Given the description of an element on the screen output the (x, y) to click on. 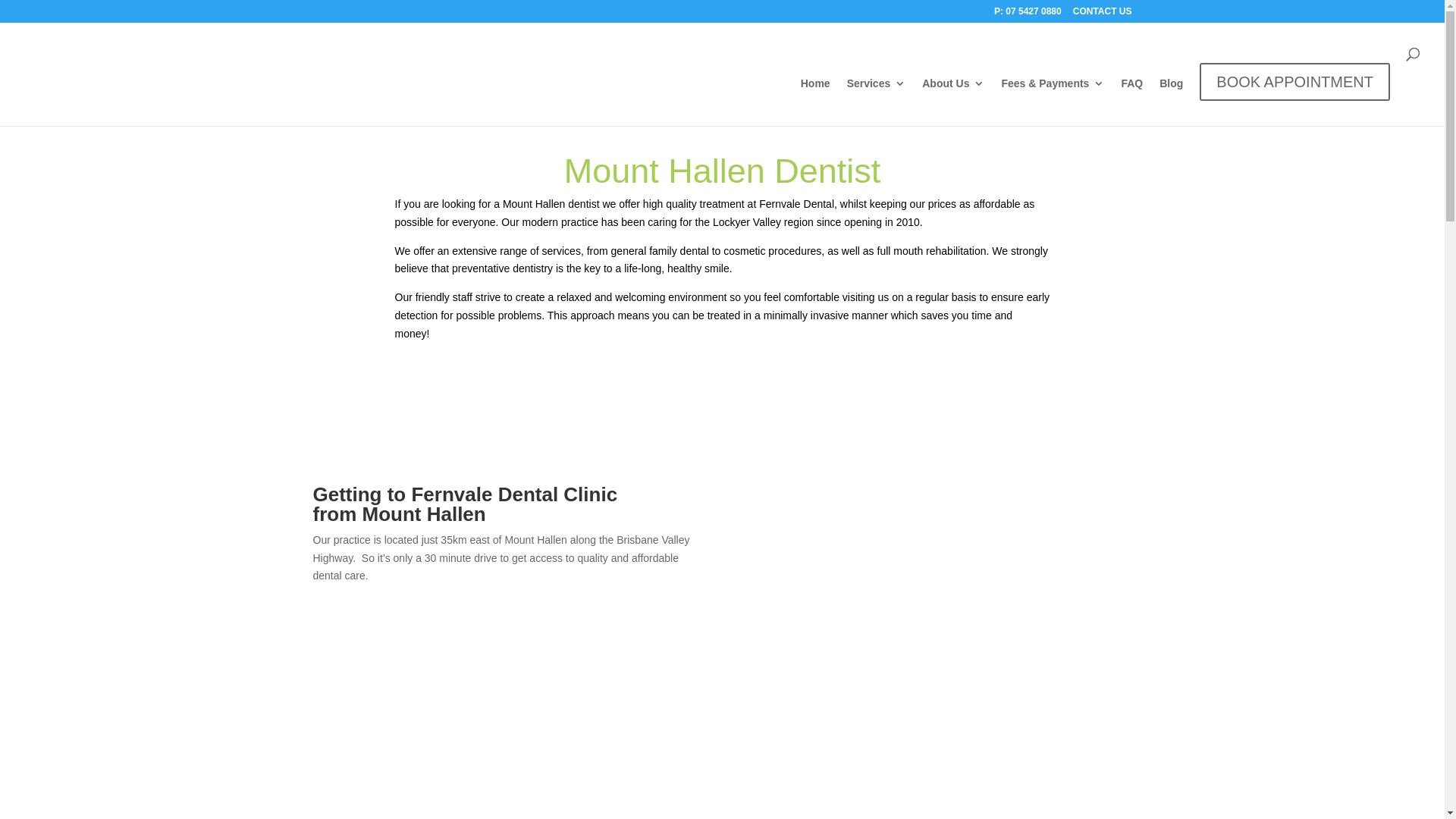
BOOK APPOINTMENT Element type: text (1294, 86)
Home Element type: text (815, 95)
Blog Element type: text (1171, 95)
Fees & Payments Element type: text (1052, 95)
Services Element type: text (876, 95)
P: 07 5427 0880 Element type: text (1027, 14)
FAQ Element type: text (1131, 95)
Contact us Element type: text (722, 385)
CONTACT US Element type: text (1102, 14)
About Us Element type: text (953, 95)
